Given the description of an element on the screen output the (x, y) to click on. 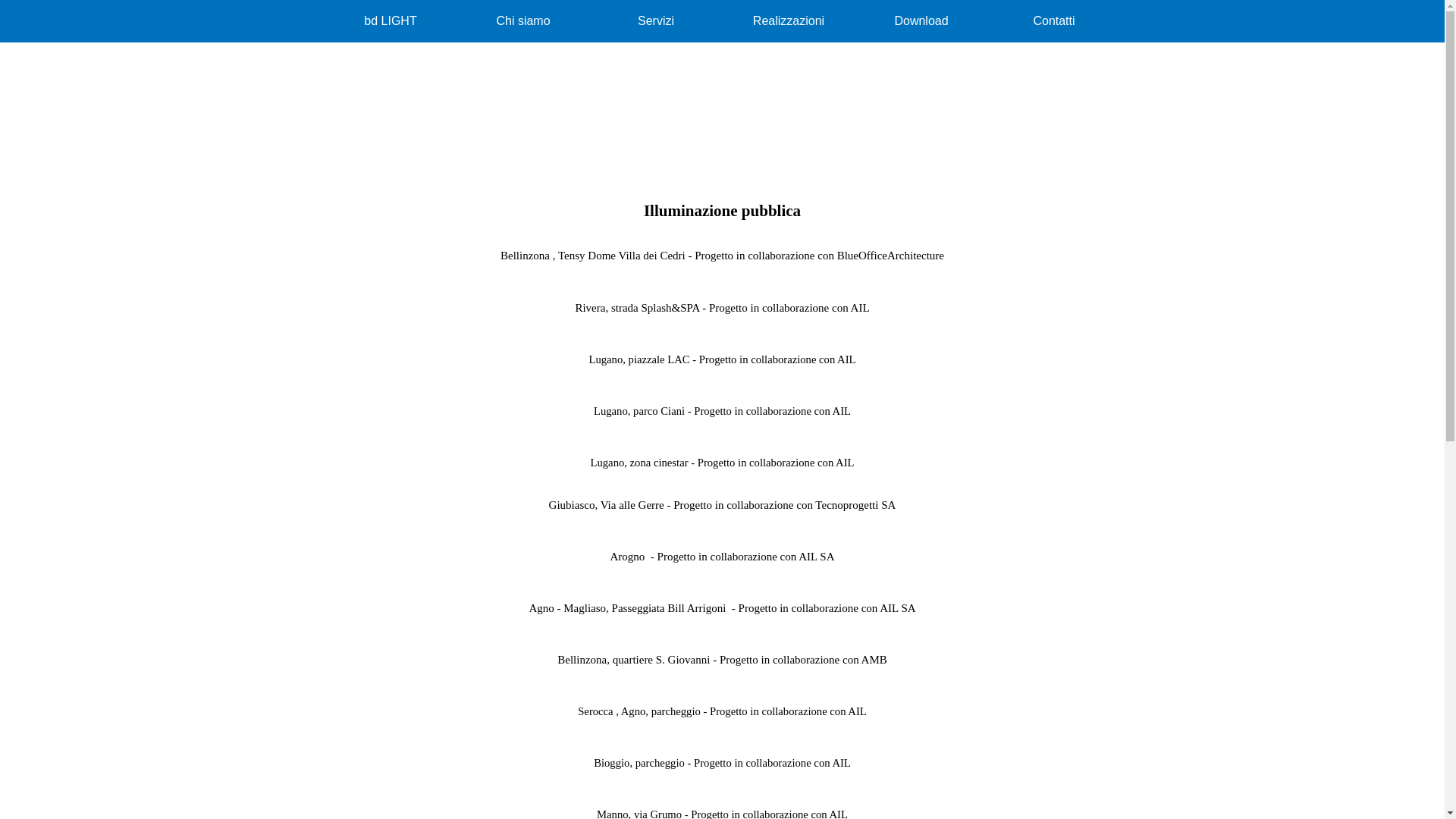
Chi siamo Element type: text (522, 20)
Contatti Element type: text (1053, 20)
bd LIGHT Element type: text (390, 20)
Download Element type: text (921, 20)
Servizi Element type: text (656, 20)
Realizzazioni Element type: text (788, 20)
